Given the description of an element on the screen output the (x, y) to click on. 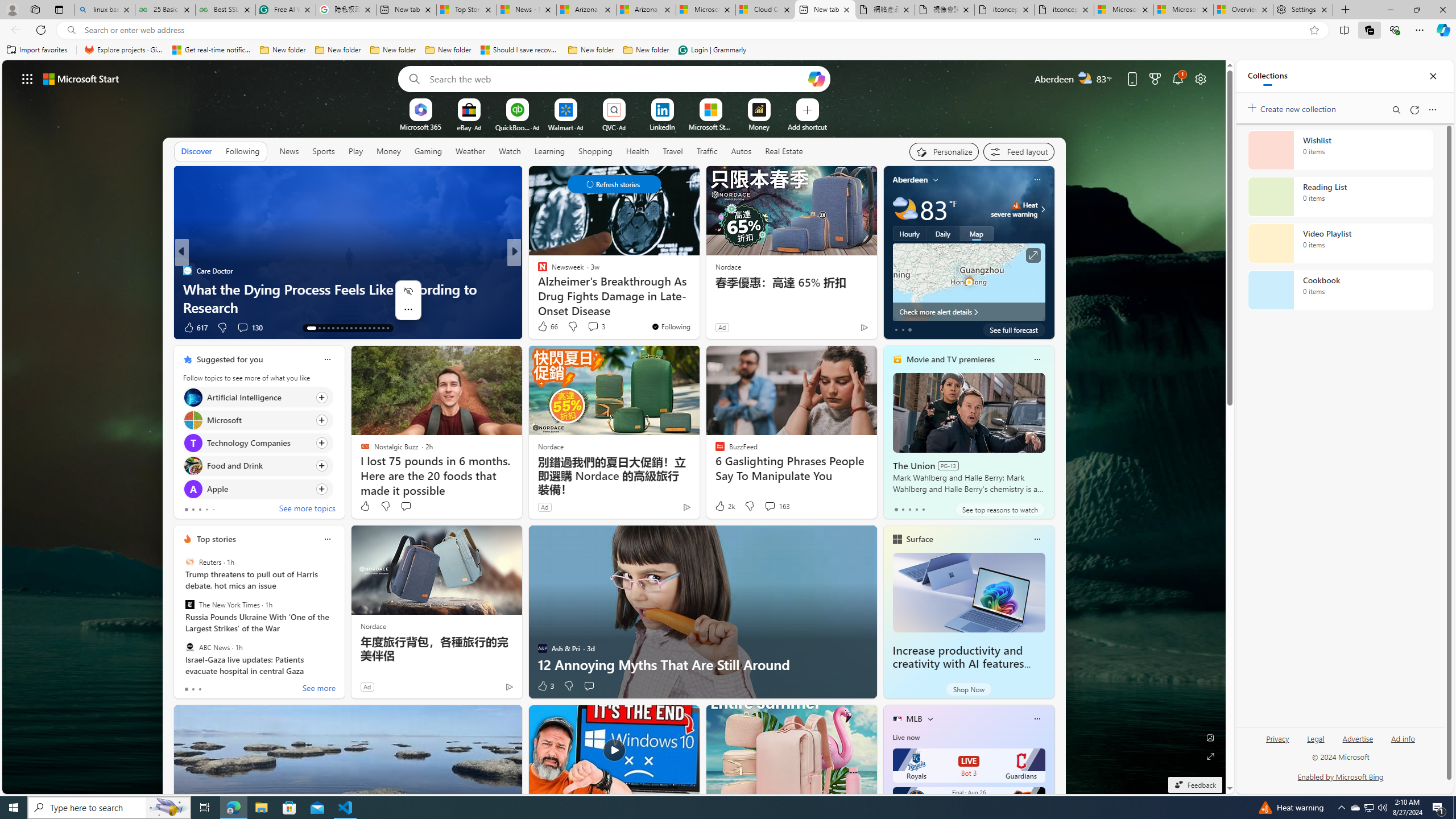
You're following The Weather Channel (839, 329)
Search icon (70, 29)
TechRadar (537, 288)
Artificial Intelligence (192, 397)
View comments 137 Comment (589, 327)
